Given the description of an element on the screen output the (x, y) to click on. 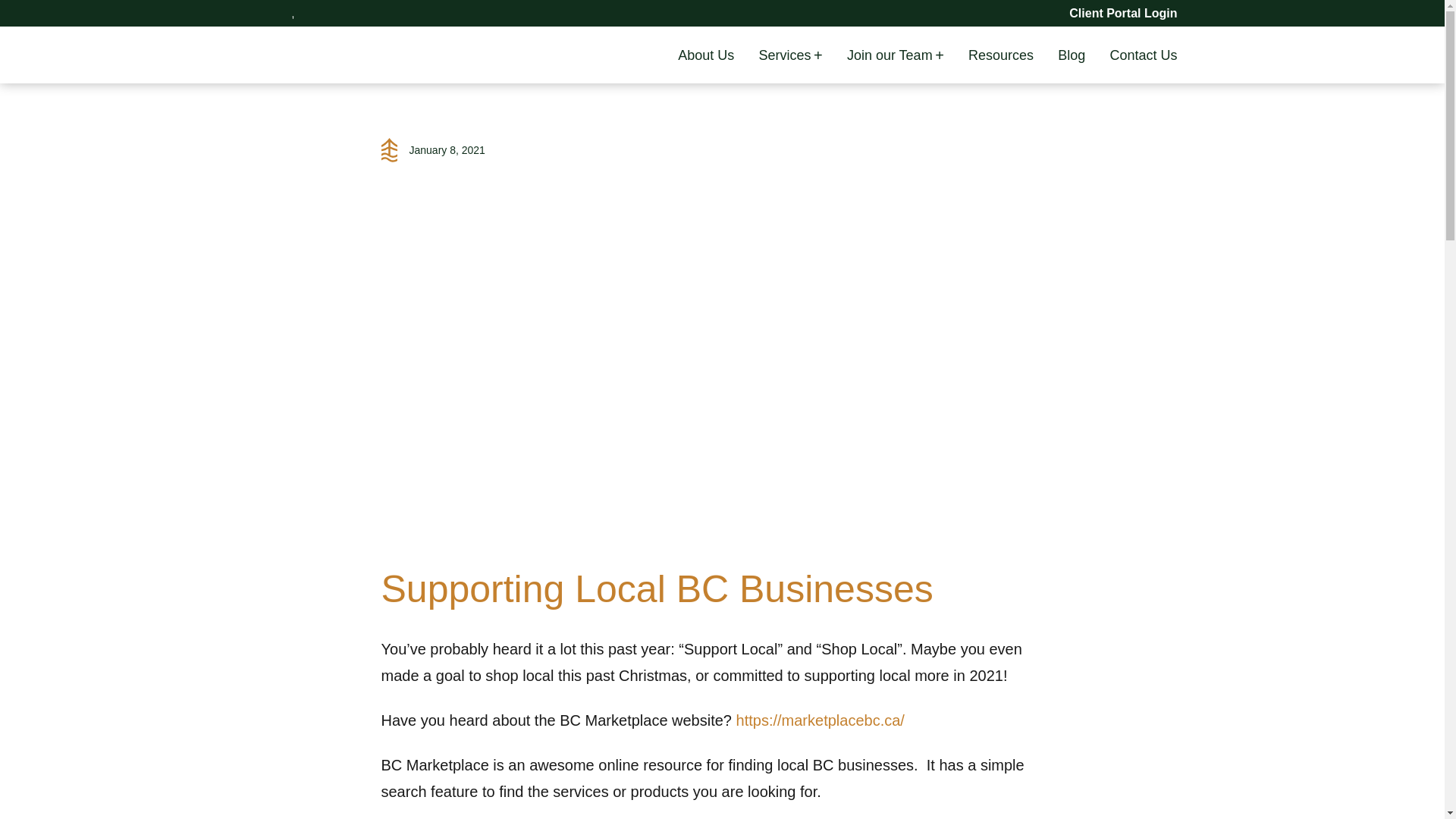
Contact Us (1142, 54)
Blog (1071, 54)
Resources (1000, 54)
About Us (705, 54)
Client Portal Login (1122, 13)
Join our Team (890, 54)
Services (784, 54)
